Given the description of an element on the screen output the (x, y) to click on. 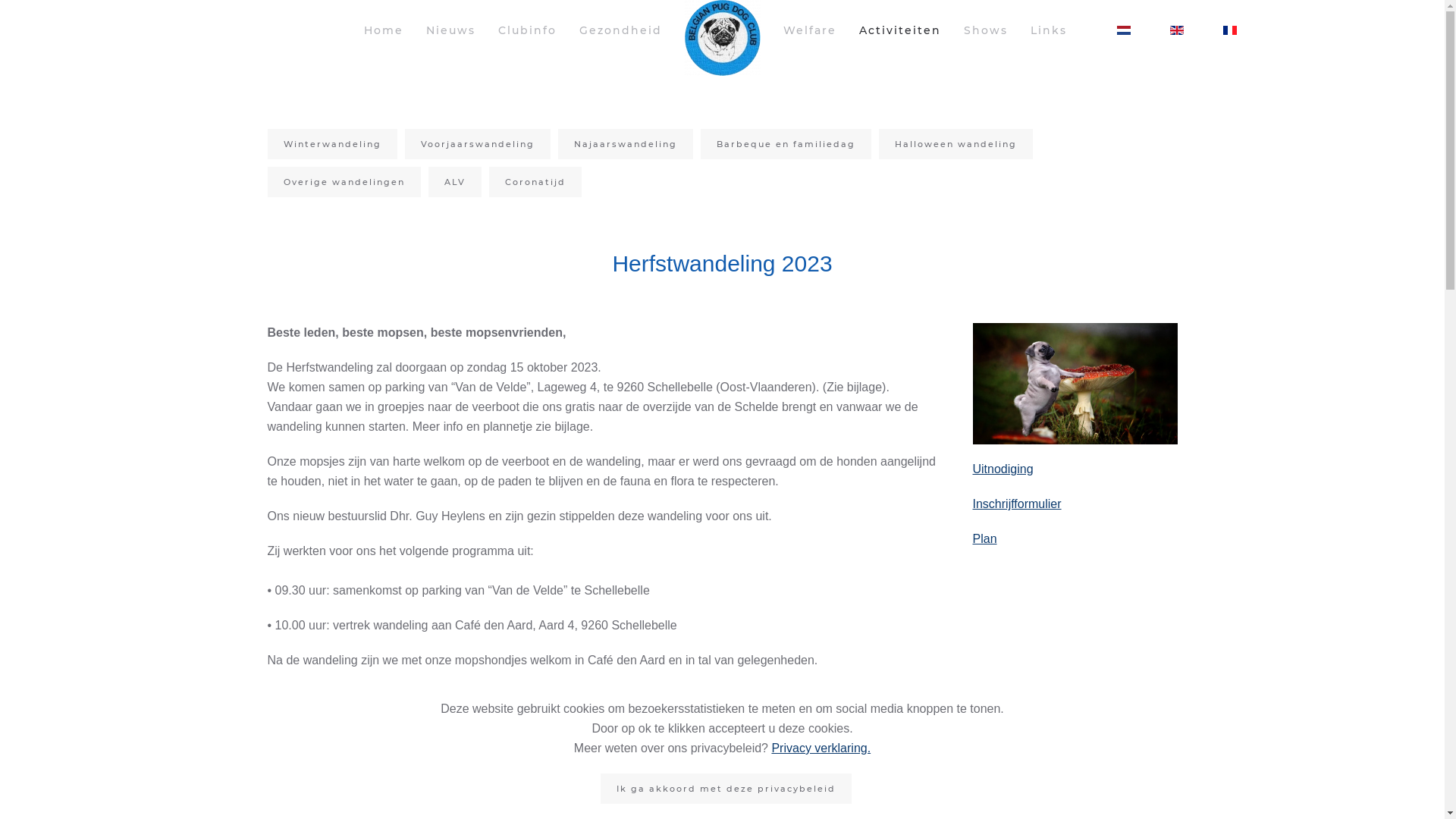
Uitnodiging Element type: text (1002, 468)
Plan Element type: text (984, 538)
Shows Element type: text (985, 30)
Winterwandeling Element type: text (331, 143)
Welfare Element type: text (808, 30)
Halloween wandeling Element type: text (955, 143)
Clubinfo Element type: text (526, 30)
Nieuws Element type: text (450, 30)
ALV Element type: text (453, 181)
Home Element type: text (383, 30)
English (United Kingdom) Element type: hover (1176, 29)
Barbeque en familiedag Element type: text (785, 143)
Najaarswandeling Element type: text (625, 143)
Links Element type: text (1047, 30)
Coronatijd Element type: text (534, 181)
Ik ga akkoord met deze privacybeleid Element type: text (725, 788)
Overige wandelingen Element type: text (343, 181)
Voorjaarswandeling Element type: text (477, 143)
Activiteiten Element type: text (899, 30)
Privacy verklaring. Element type: text (820, 747)
Gezondheid Element type: text (620, 30)
Nederlands (nl-NL) Element type: hover (1122, 29)
Inschrijfformulier Element type: text (1016, 503)
